Given the description of an element on the screen output the (x, y) to click on. 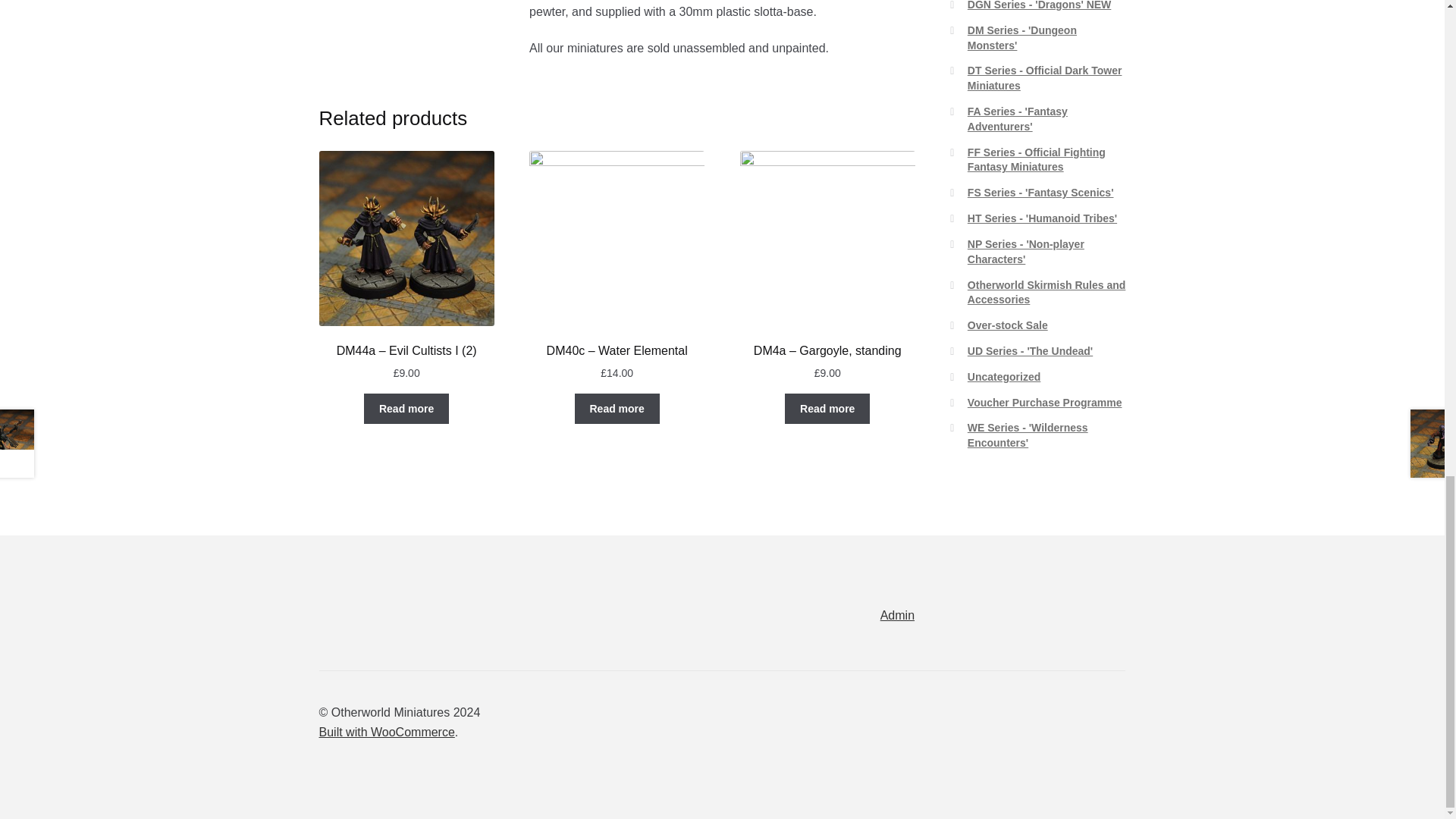
WooCommerce - The Best eCommerce Platform for WordPress (386, 731)
Read more (617, 408)
Read more (406, 408)
